Given the description of an element on the screen output the (x, y) to click on. 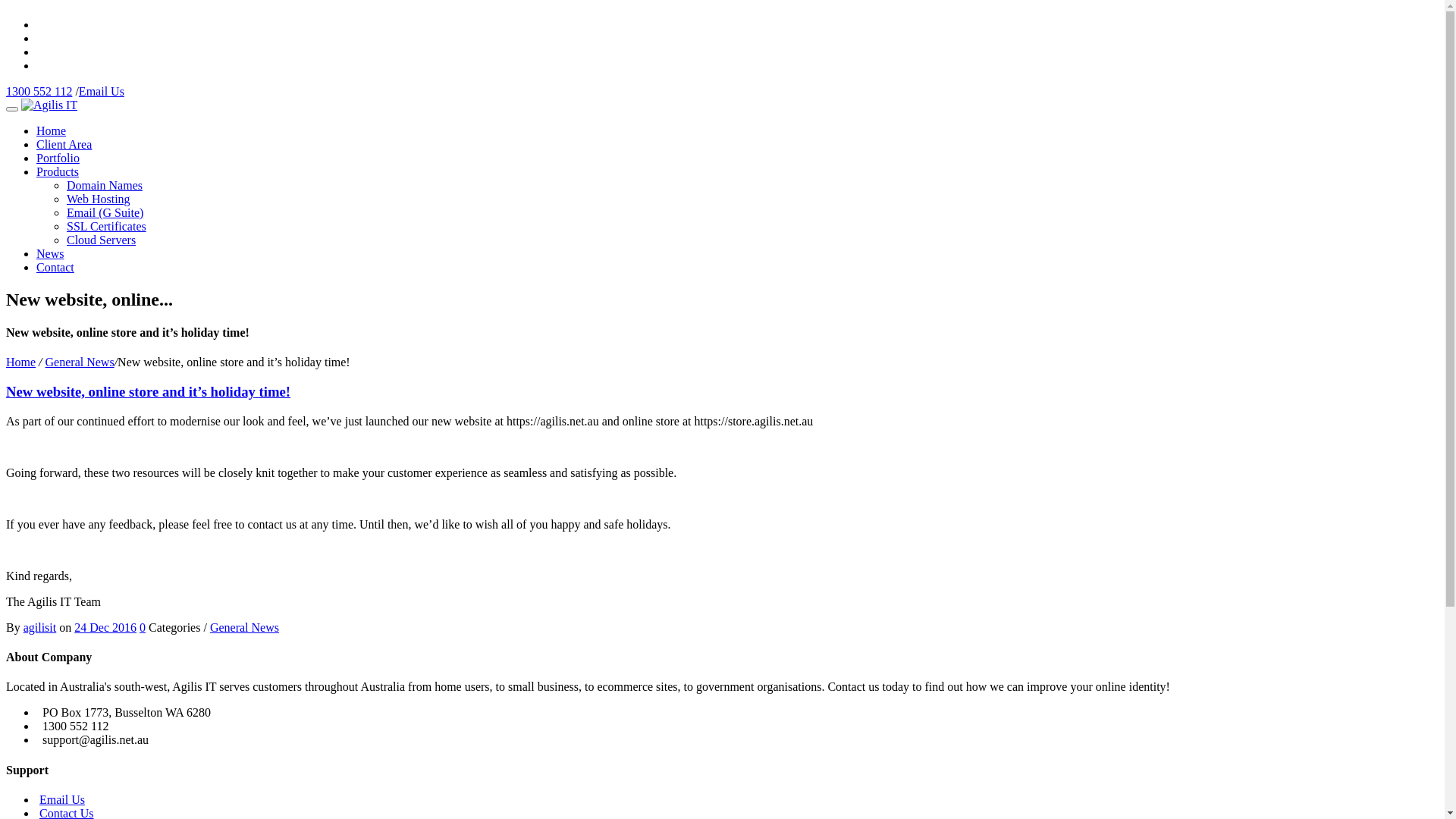
Products Element type: text (57, 171)
Home Element type: text (20, 361)
24 Dec 2016 Element type: text (105, 627)
General News Element type: text (79, 361)
Web Hosting Element type: text (98, 198)
News Element type: text (49, 253)
1300 552 112 Element type: text (39, 90)
Contact Element type: text (55, 266)
Domain Names Element type: text (104, 184)
SSL Certificates Element type: text (106, 225)
Email (G Suite) Element type: text (104, 212)
agilisit Element type: text (39, 627)
Cloud Servers Element type: text (100, 239)
Email Us Element type: text (101, 90)
Client Area Element type: text (63, 144)
Home Element type: text (50, 130)
General News Element type: text (244, 627)
Portfolio Element type: text (57, 157)
Email Us Element type: text (61, 799)
0 Element type: text (142, 627)
